Given the description of an element on the screen output the (x, y) to click on. 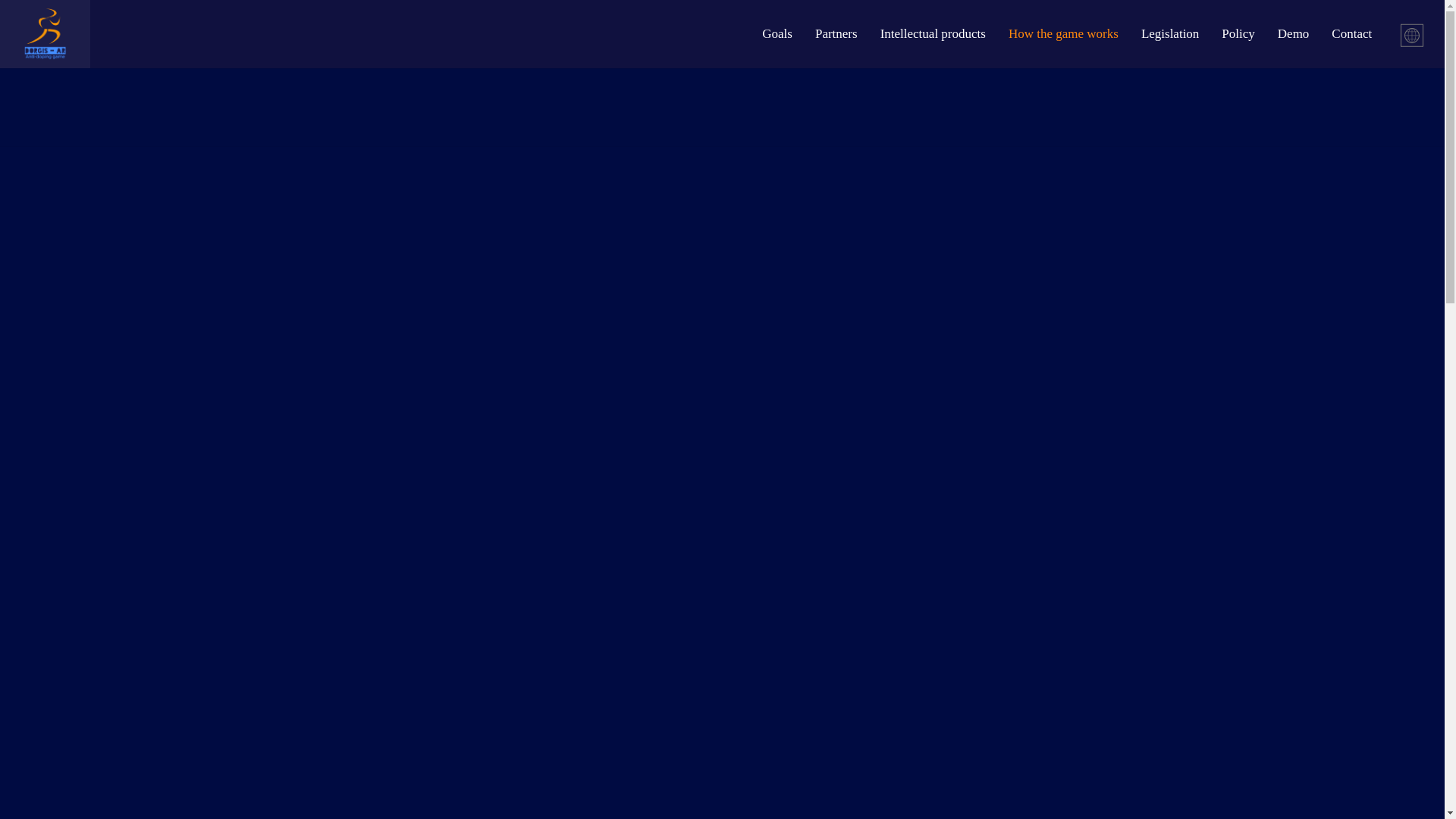
How the game works (1075, 33)
Contact (1363, 33)
Partners (847, 33)
Legislation (1181, 33)
Intellectual products (944, 33)
